Given the description of an element on the screen output the (x, y) to click on. 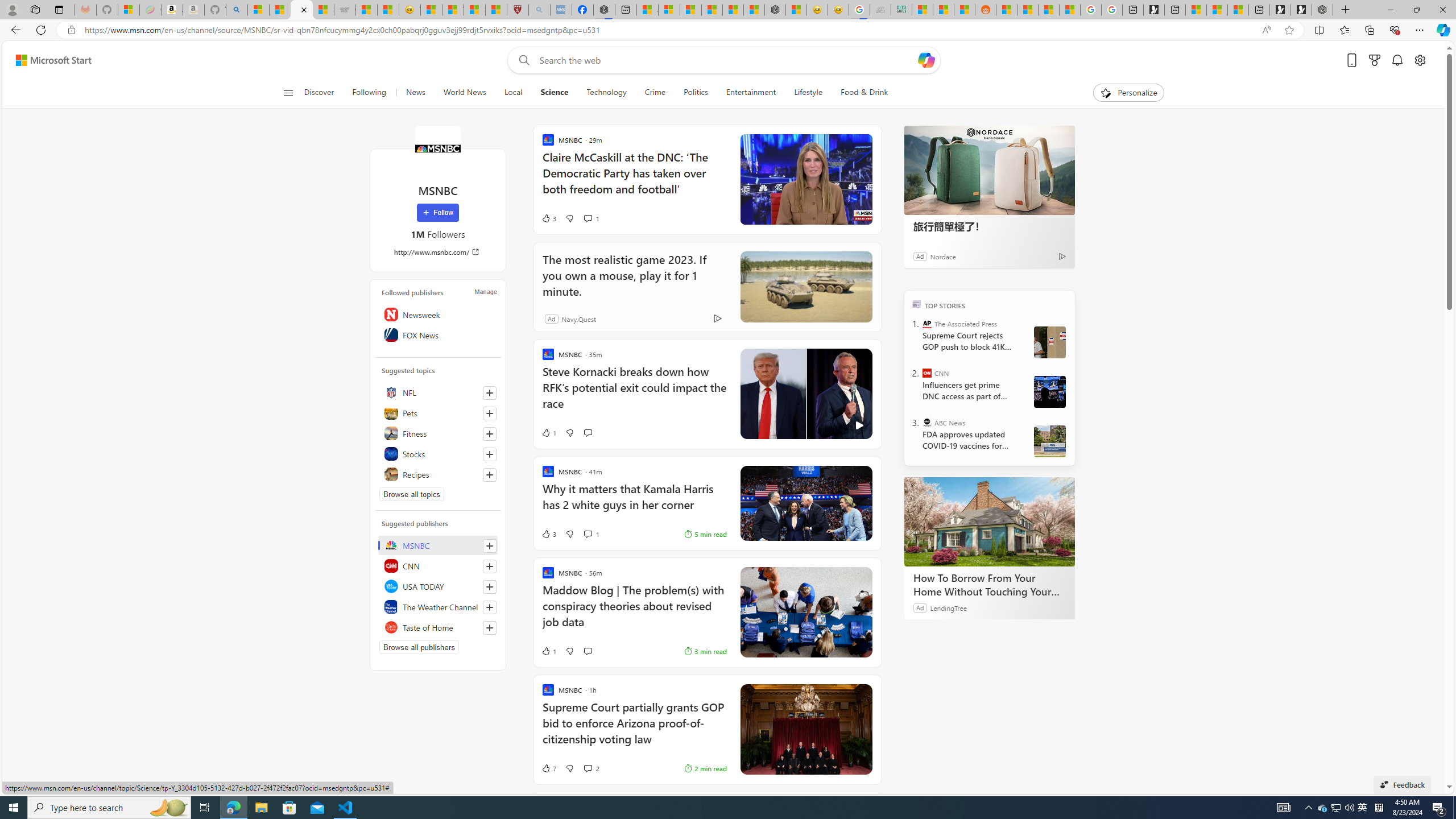
News (414, 92)
The Weather Channel (437, 606)
Science (554, 92)
Discover (323, 92)
These 3 Stocks Pay You More Than 5% to Own Them (1238, 9)
Science - MSN (474, 9)
FOX News (437, 334)
